Given the description of an element on the screen output the (x, y) to click on. 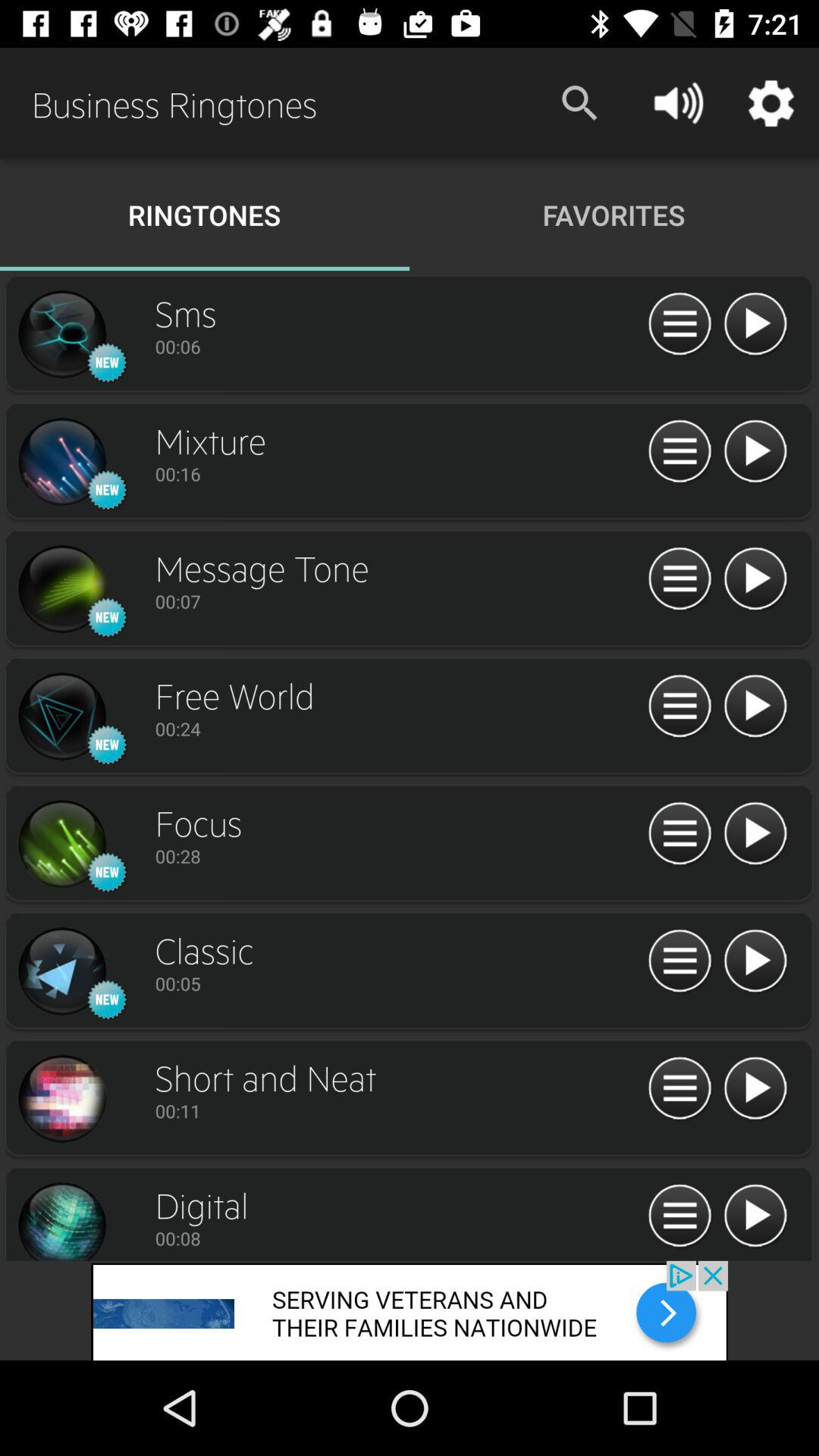
view profile (61, 1219)
